Given the description of an element on the screen output the (x, y) to click on. 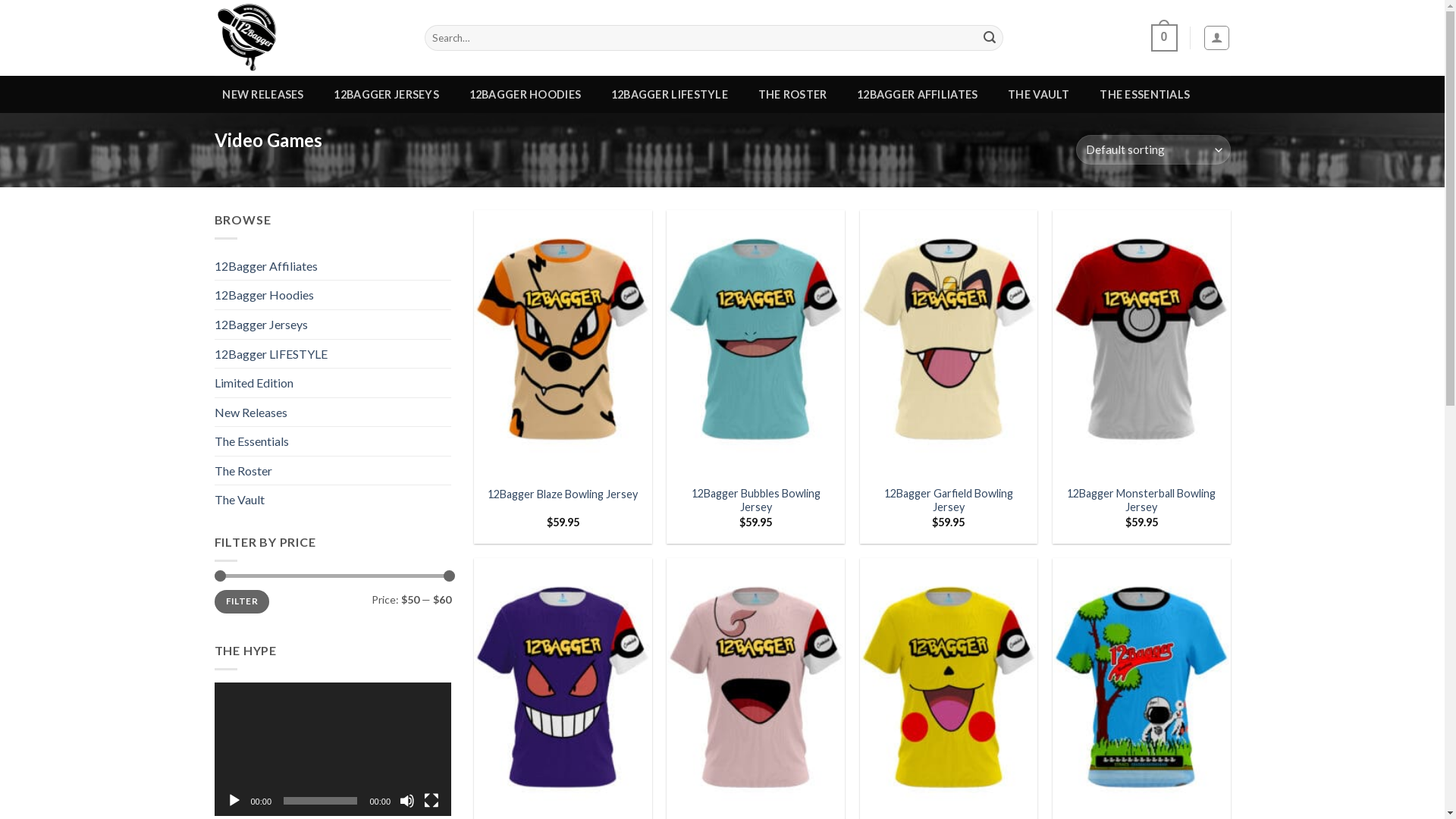
12BAGGER LIFESTYLE Element type: text (669, 94)
Search Element type: text (989, 37)
12Bagger Monsterball Bowling Jersey Element type: text (1141, 500)
12Bagger Jerseys Element type: text (332, 324)
NEW RELEASES Element type: text (262, 94)
The Essentials Element type: text (332, 440)
0 Element type: text (1164, 37)
THE ROSTER Element type: text (791, 94)
FILTER Element type: text (241, 601)
12Bagger LIFESTYLE Element type: text (332, 353)
The Vault Element type: text (332, 499)
12Bagger Bubbles Bowling Jersey Element type: text (755, 500)
12BAGGER AFFILIATES Element type: text (916, 94)
Fullscreen Element type: hover (431, 800)
12BAGGER HOODIES Element type: text (525, 94)
12Bagger Garfield Bowling Jersey Element type: text (948, 500)
The Roster Element type: text (332, 470)
12BAGGER JERSEYS Element type: text (386, 94)
12Bagger Hoodies Element type: text (332, 294)
Limited Edition Element type: text (332, 382)
12Bagger Blaze Bowling Jersey Element type: text (562, 494)
12Bagger Bowling Element type: hover (307, 37)
THE VAULT Element type: text (1038, 94)
New Releases Element type: text (332, 412)
Mute Element type: hover (406, 800)
Play Element type: hover (233, 800)
THE ESSENTIALS Element type: text (1145, 94)
Skip to content Element type: text (0, 0)
12Bagger Affiliates Element type: text (332, 265)
